Given the description of an element on the screen output the (x, y) to click on. 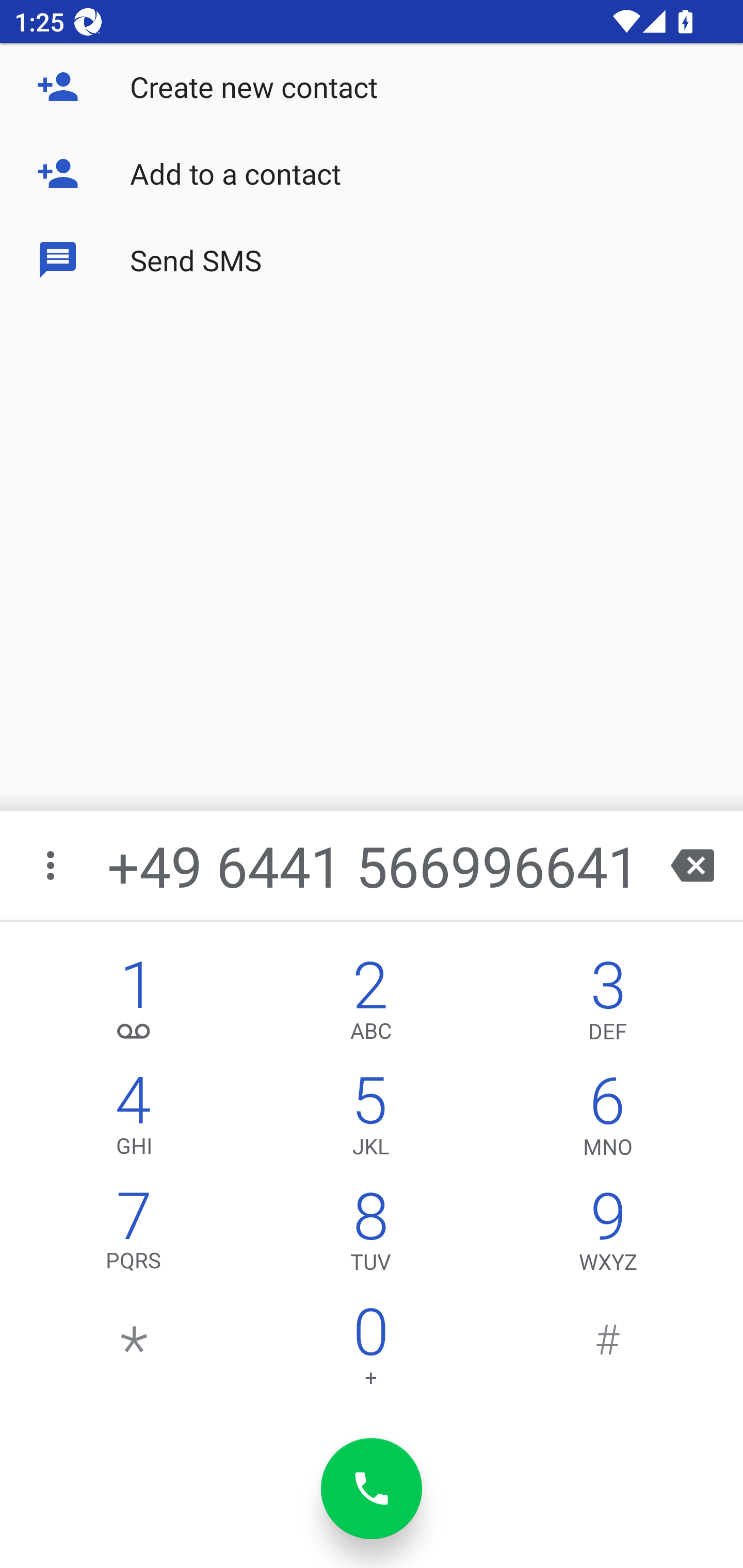
Create new contact (371, 86)
Add to a contact (371, 173)
Send SMS (371, 259)
+49 6441 566996641 (372, 865)
backspace (692, 865)
More options (52, 865)
1, 1 (133, 1005)
2,ABC 2 ABC (370, 1005)
3,DEF 3 DEF (607, 1005)
4,GHI 4 GHI (133, 1120)
5,JKL 5 JKL (370, 1120)
6,MNO 6 MNO (607, 1120)
7,PQRS 7 PQRS (133, 1235)
8,TUV 8 TUV (370, 1235)
9,WXYZ 9 WXYZ (607, 1235)
* (133, 1351)
0 0 + (370, 1351)
# (607, 1351)
dial (371, 1488)
